Given the description of an element on the screen output the (x, y) to click on. 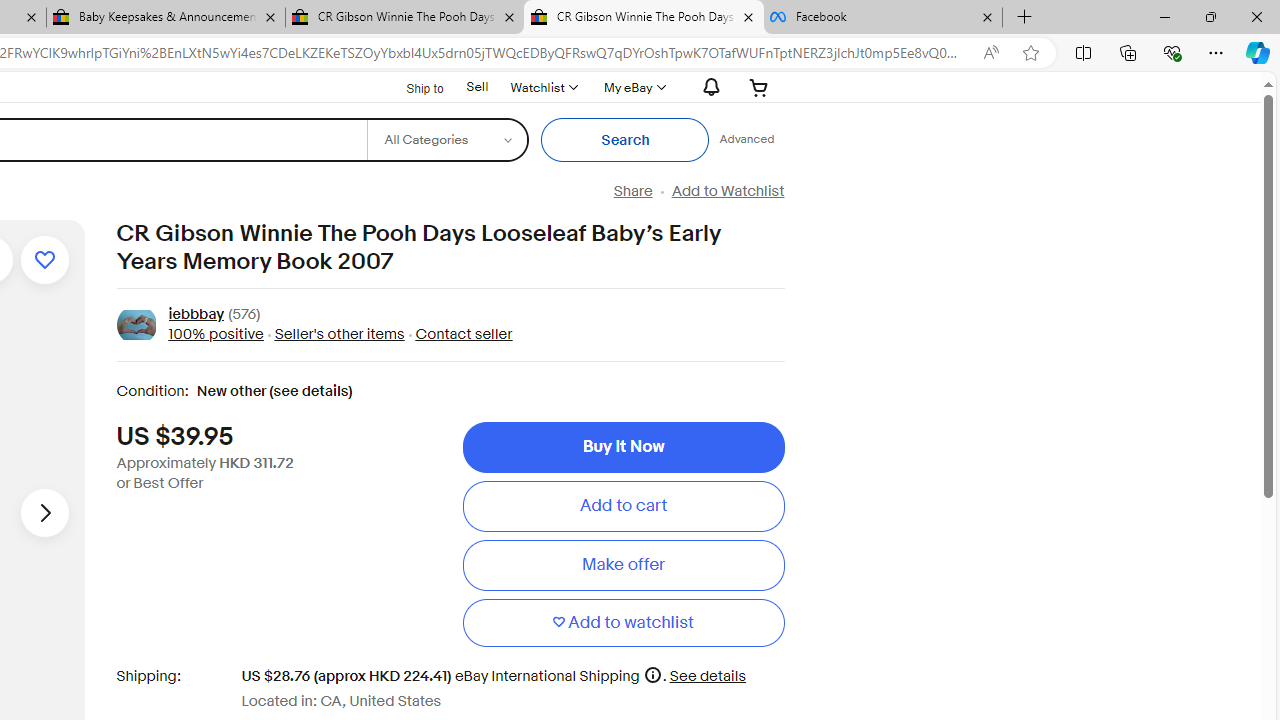
Make offer (623, 565)
Contact seller (463, 334)
AutomationID: gh-eb-Alerts (708, 87)
  Contact seller (458, 334)
Class: ux-action (136, 325)
Advanced Search (746, 139)
Buy It Now (623, 447)
100% positive (215, 334)
Ship to (412, 88)
Sell (477, 86)
See details for shipping (708, 676)
Add to cart (623, 506)
Expand Cart (759, 87)
Add to cart (623, 506)
